Given the description of an element on the screen output the (x, y) to click on. 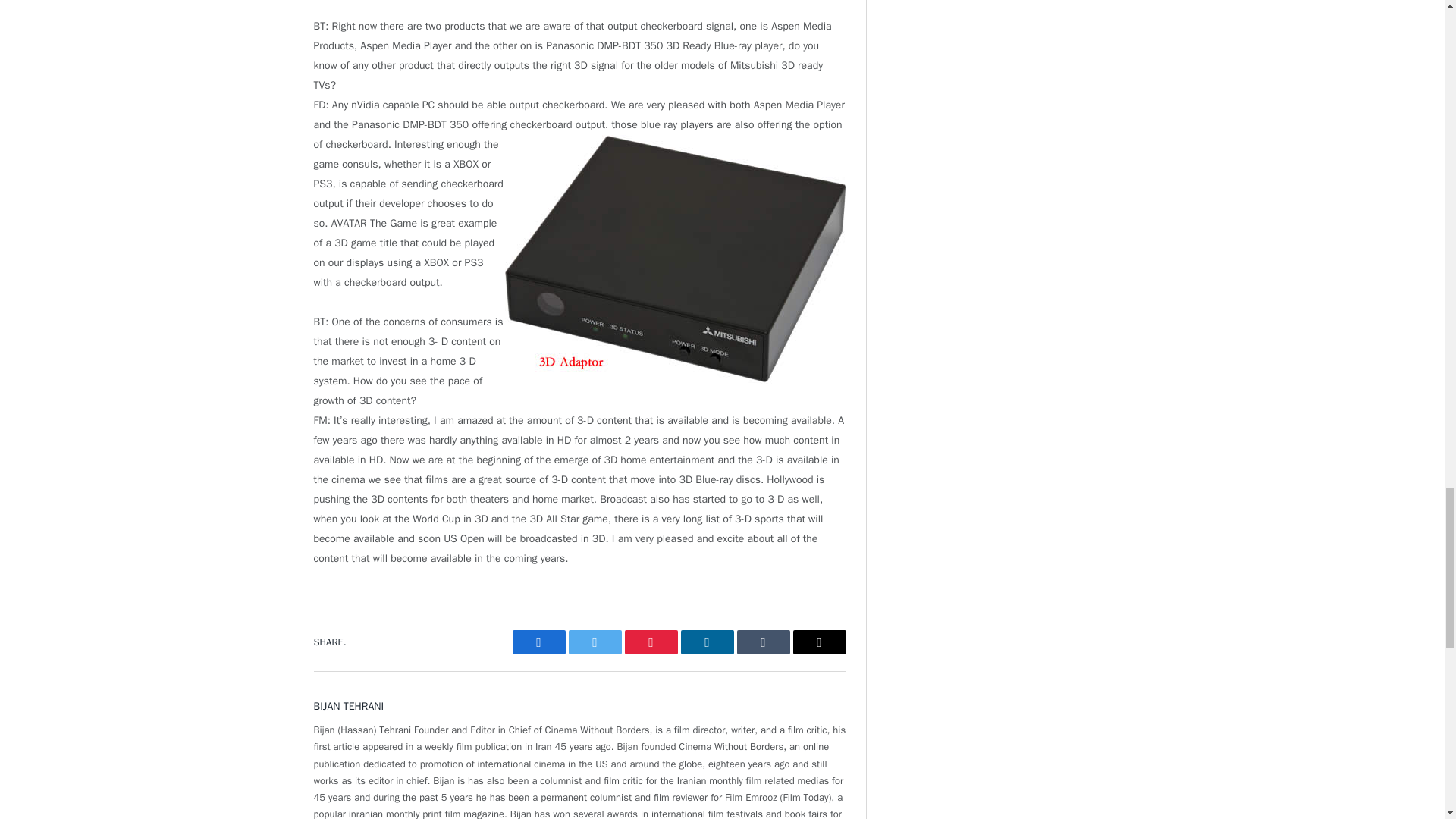
Share on LinkedIn (707, 641)
Share on Facebook (539, 641)
Share on Pinterest (651, 641)
Posts by Bijan Tehrani (349, 706)
Facebook (539, 641)
Share on Tumblr (763, 641)
Share via Email (819, 641)
Twitter (595, 641)
